Given the description of an element on the screen output the (x, y) to click on. 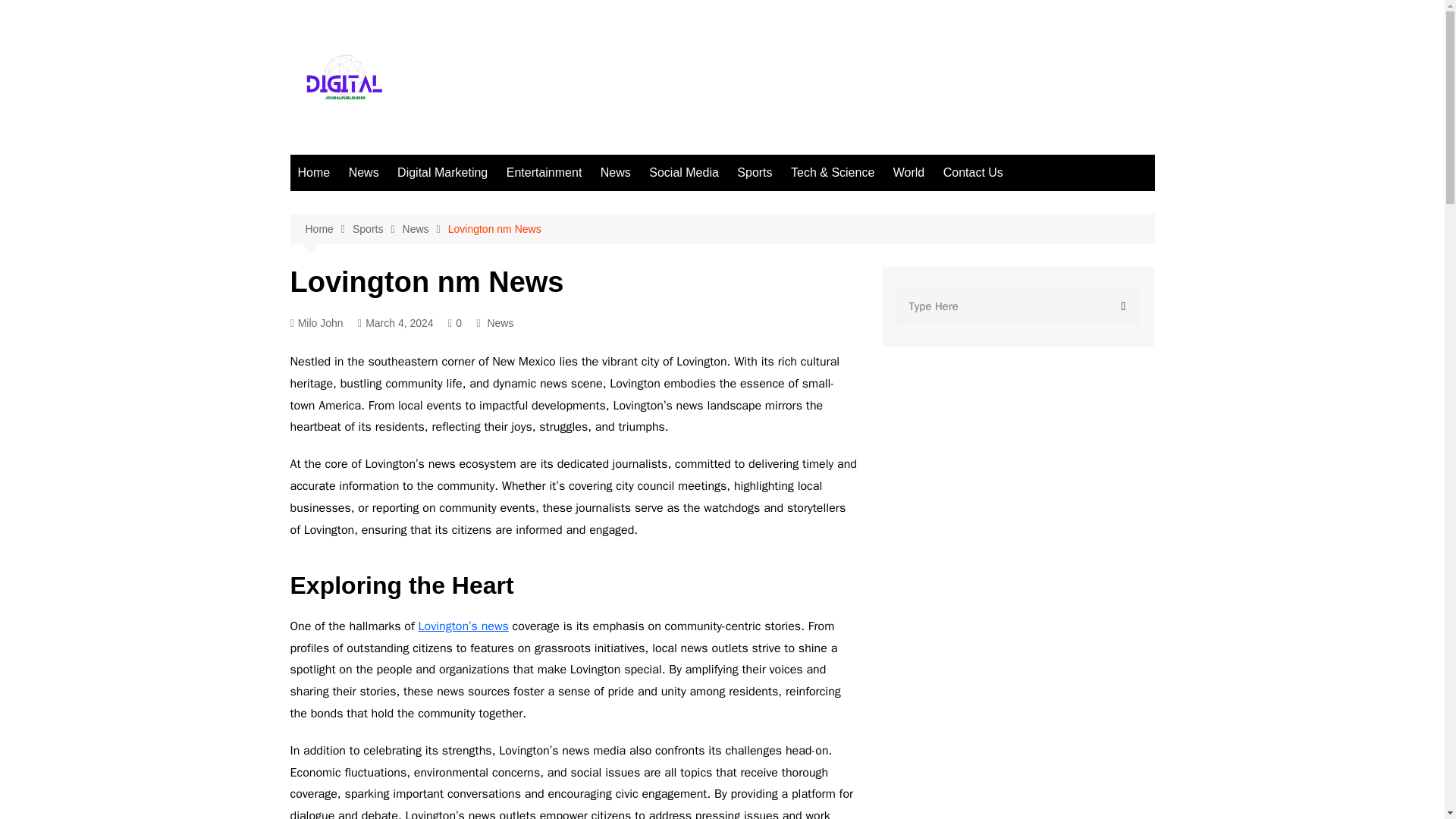
News (499, 322)
Entertainment (544, 172)
Lovington nm News (494, 228)
News (363, 172)
World (909, 172)
Home (313, 172)
Contact Us (973, 172)
Home (328, 229)
News (425, 229)
Sports (377, 229)
Milo John (315, 323)
Sports (753, 172)
Digital Marketing (442, 172)
Social Media (684, 172)
March 4, 2024 (395, 323)
